Given the description of an element on the screen output the (x, y) to click on. 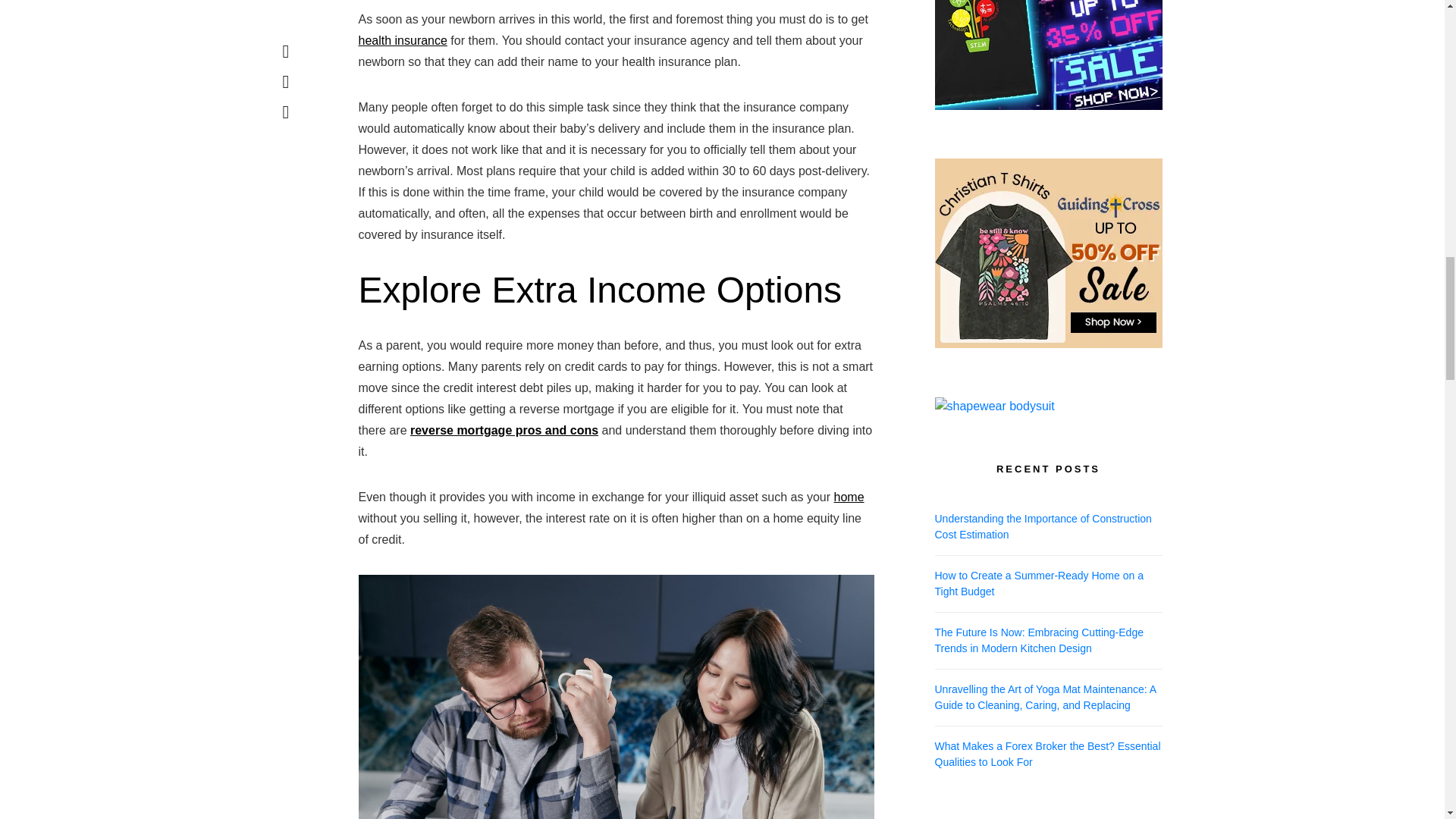
reverse mortgage pros and cons (504, 430)
health insurance (402, 40)
home (849, 496)
